Given the description of an element on the screen output the (x, y) to click on. 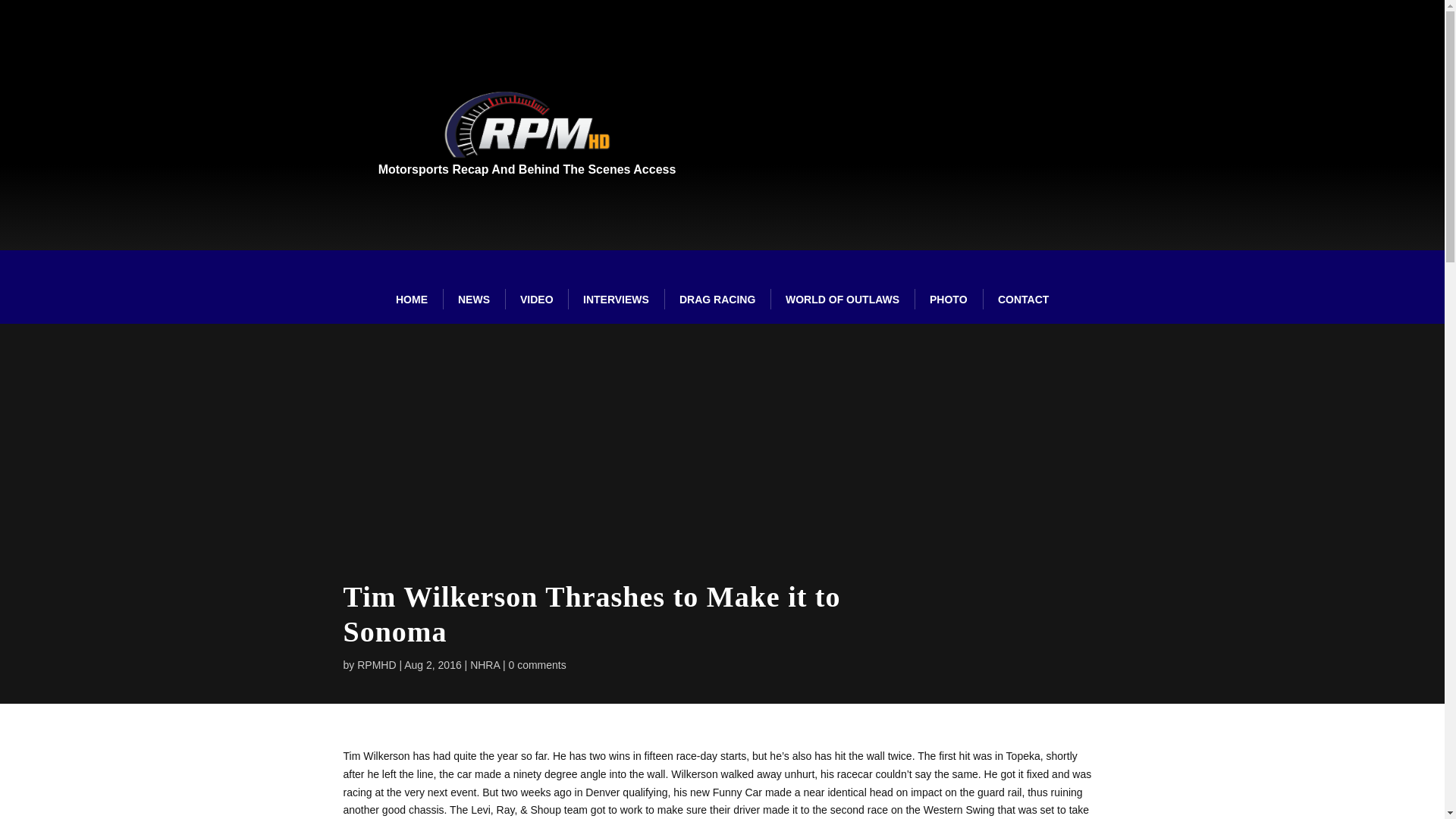
NEWS (473, 299)
RPMHD (376, 664)
DRAG RACING (716, 299)
WORLD OF OUTLAWS (842, 299)
HOME (411, 299)
INTERVIEWS (615, 299)
CONTACT (1023, 299)
Posts by RPMHD (376, 664)
NHRA (484, 664)
VIDEO (537, 299)
